Given the description of an element on the screen output the (x, y) to click on. 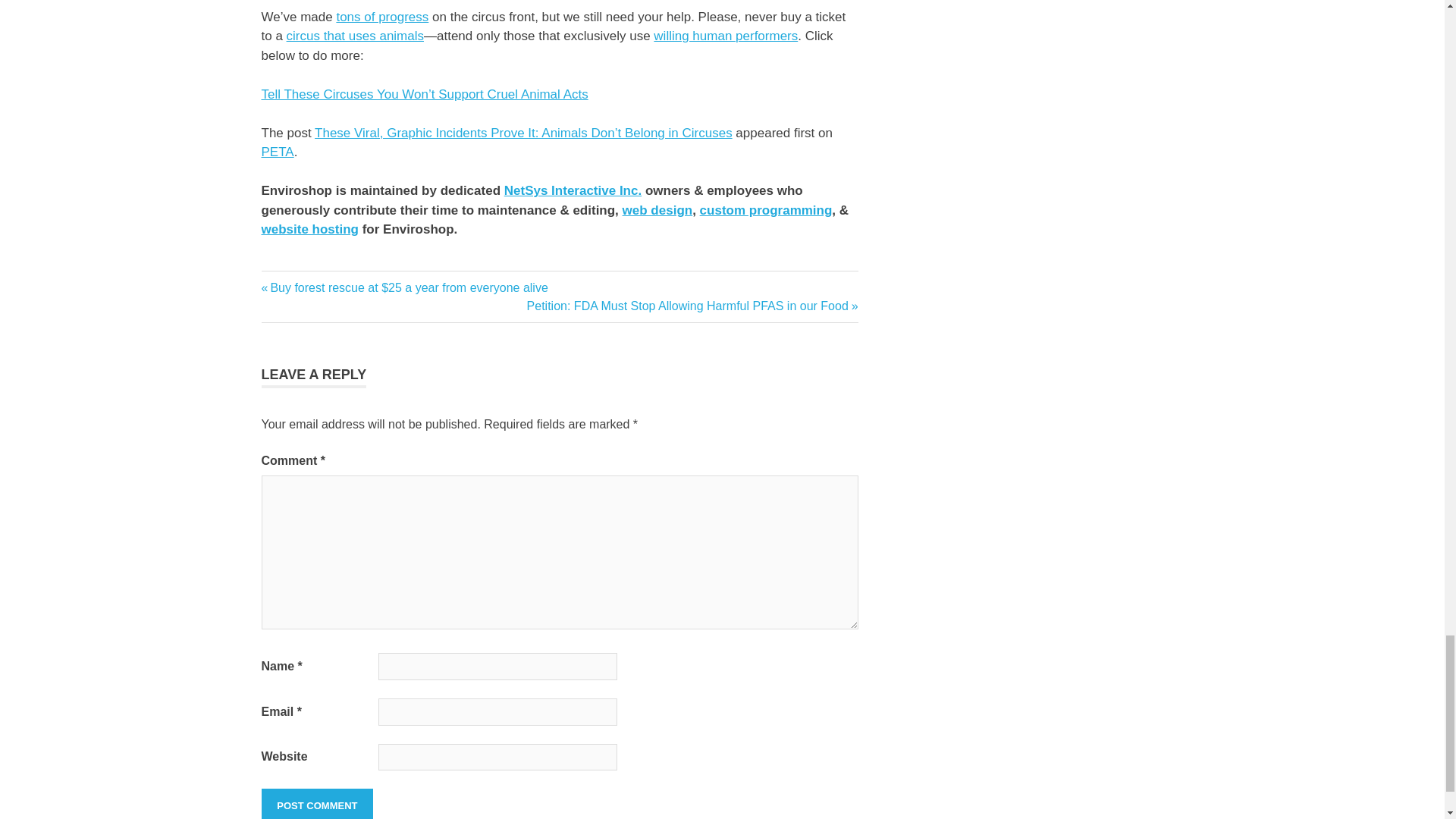
Post Comment (316, 803)
